Given the description of an element on the screen output the (x, y) to click on. 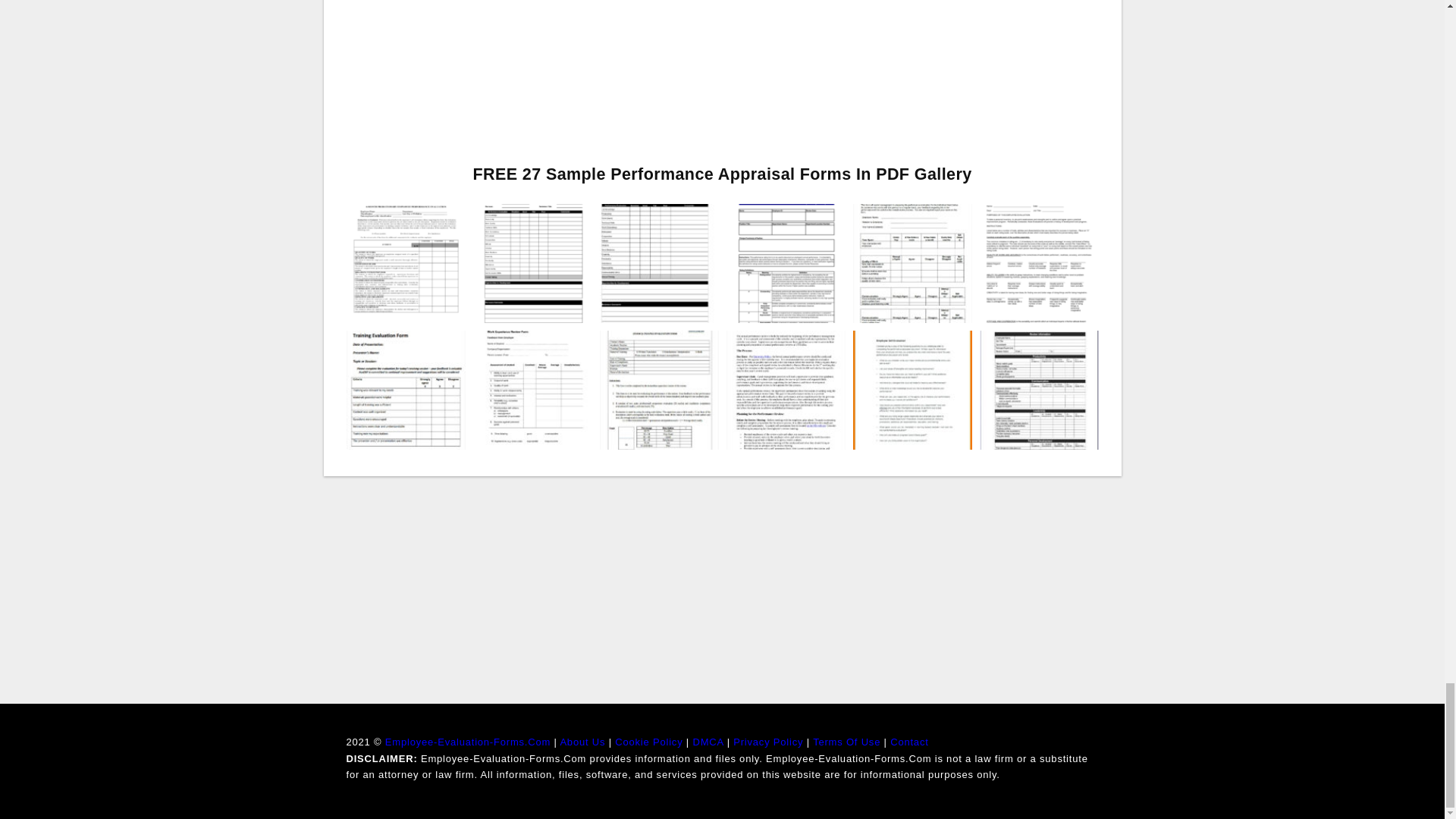
Terms Of Use (846, 741)
Privacy Policy (768, 741)
Probationary Employee Performance Evaluation Form Edit (405, 262)
Employee-Evaluation-Forms.Com (467, 741)
Cookie Policy (648, 741)
About Us (582, 741)
DMCA (708, 741)
Contact (908, 741)
